Given the description of an element on the screen output the (x, y) to click on. 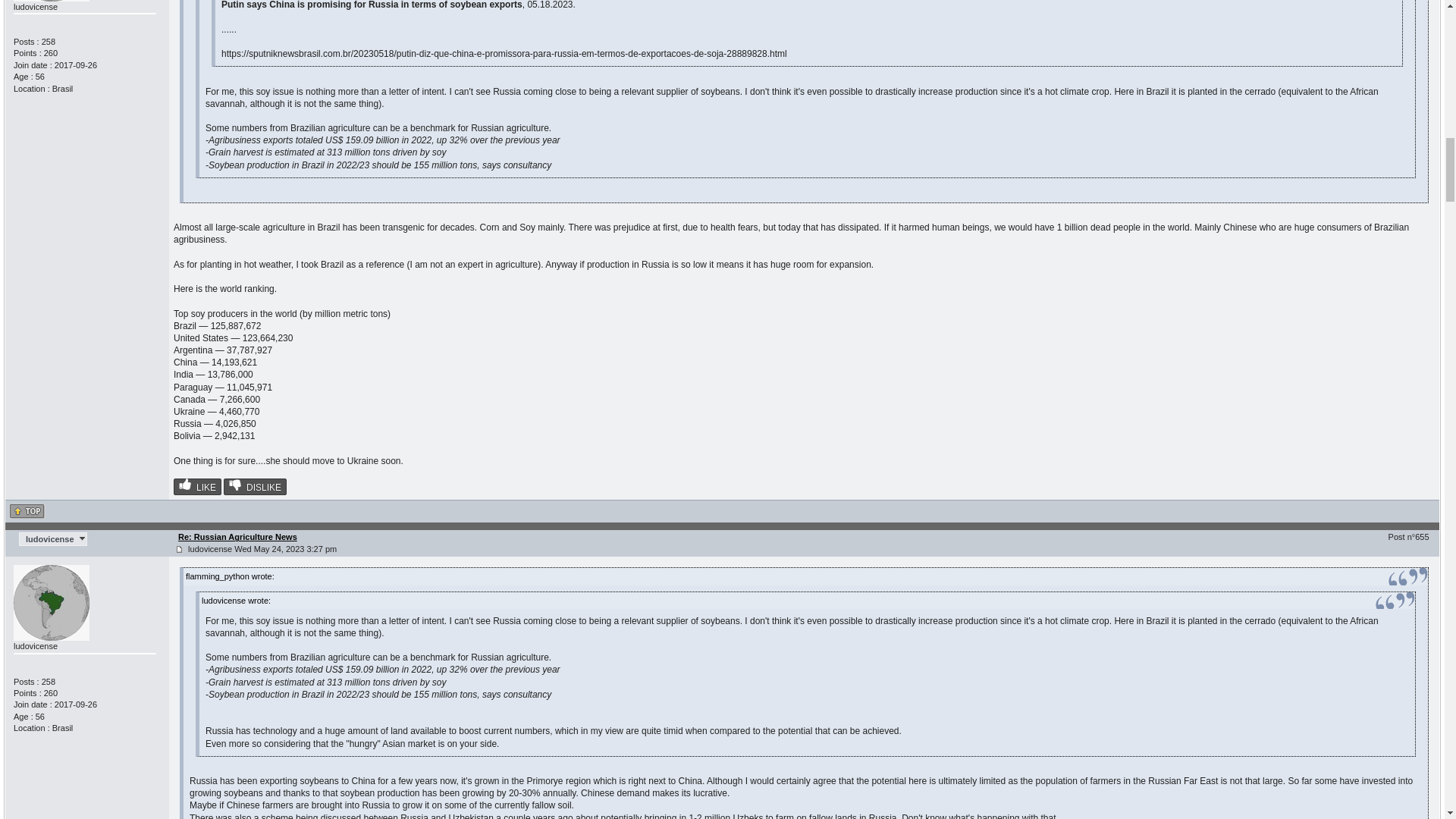
DISLIKE (255, 486)
Post (178, 549)
LIKE (197, 486)
